Given the description of an element on the screen output the (x, y) to click on. 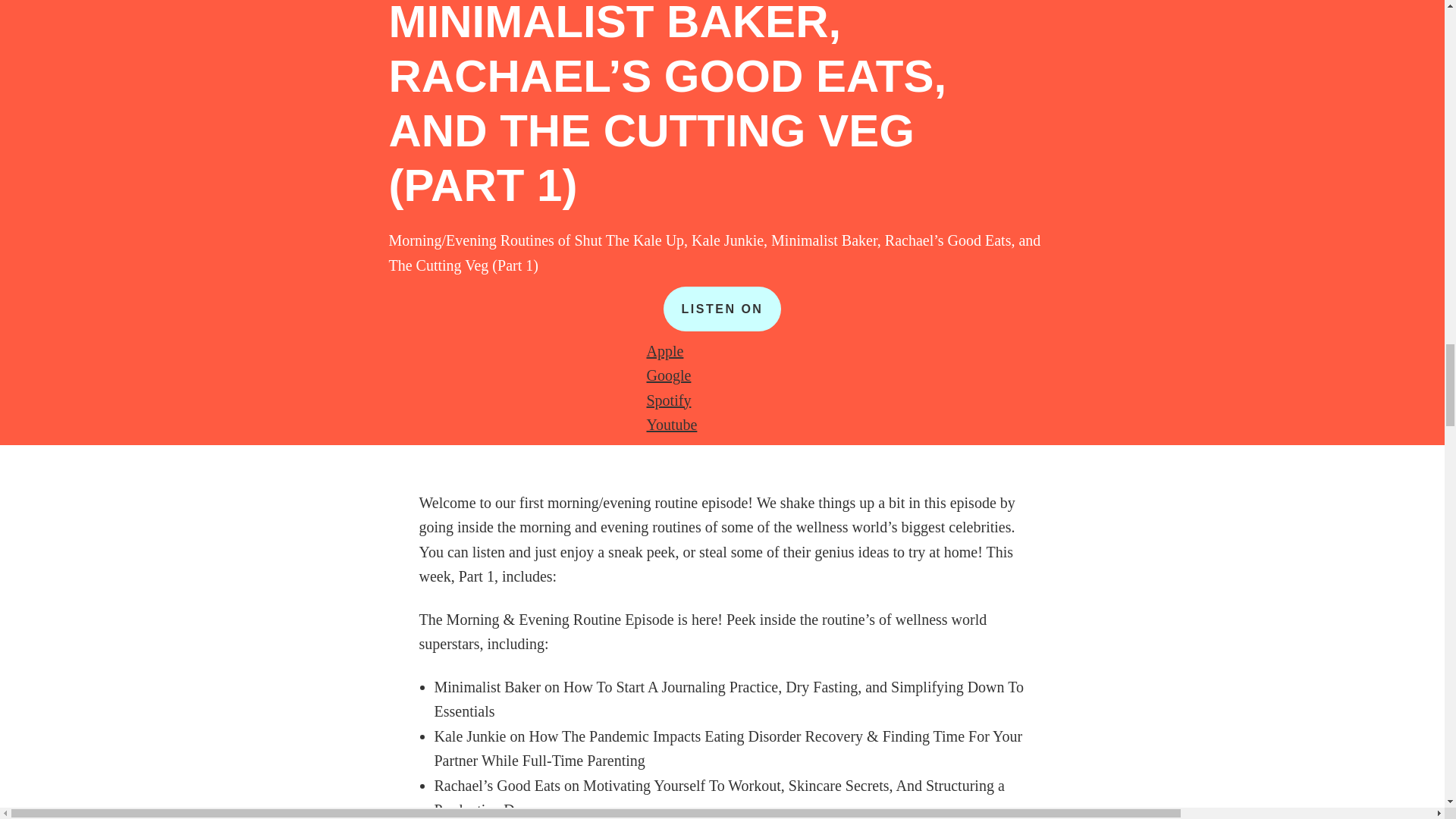
Apple (664, 351)
LISTEN ON (722, 308)
